Given the description of an element on the screen output the (x, y) to click on. 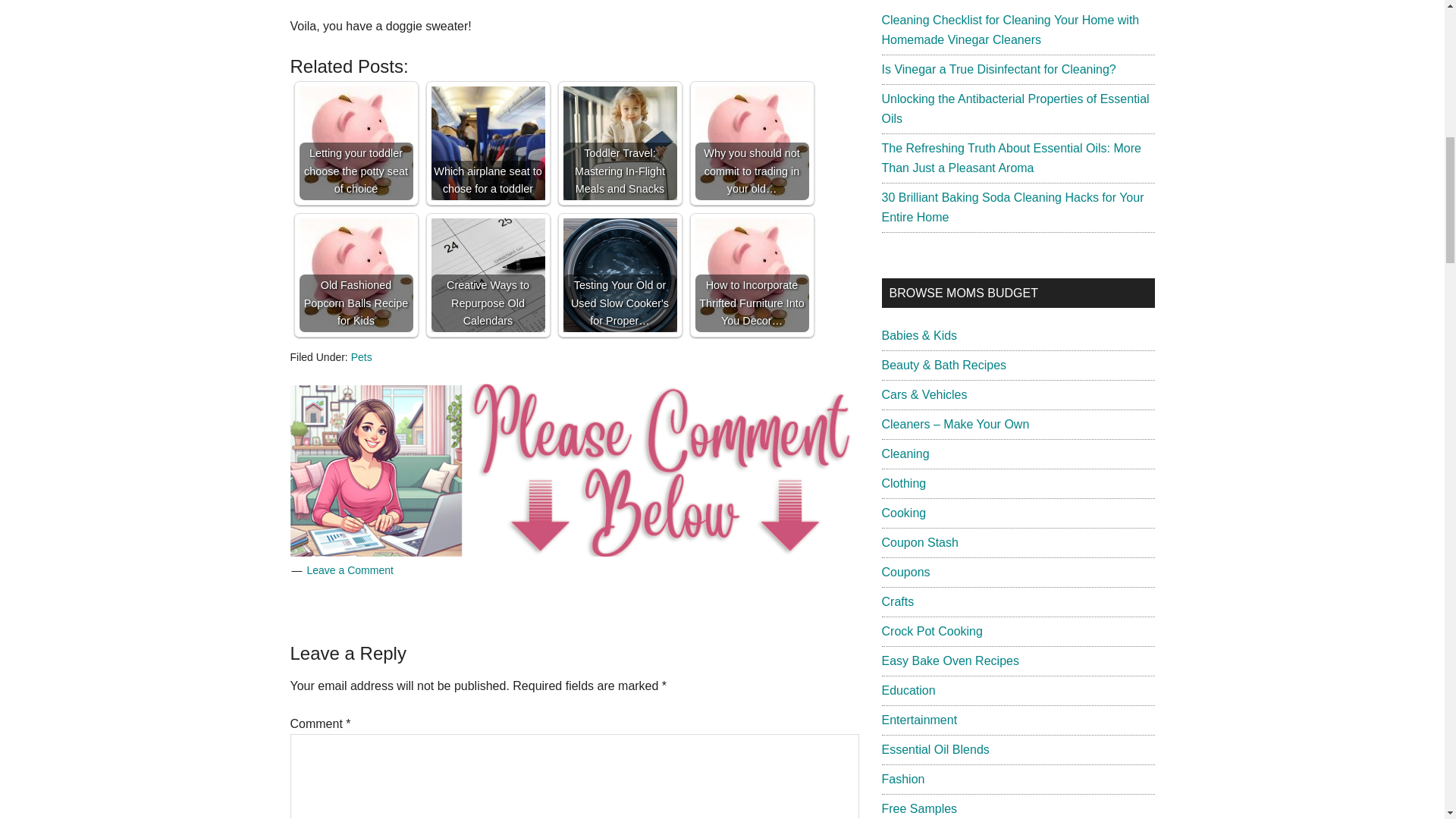
Creative Ways to Repurpose Old Calendars (487, 275)
Coupons (905, 571)
Letting your toddler choose the potty seat of choice (355, 142)
Easy Bake Oven Recipes (948, 660)
Crock Pot Cooking (930, 631)
Leave a Comment (349, 570)
Essential Oil Blends (934, 748)
Entertainment (918, 719)
Toddler Travel: Mastering In-Flight Meals and Snacks (619, 142)
Unlocking the Antibacterial Properties of Essential Oils (1014, 108)
Creative Ways to Repurpose Old Calendars (487, 275)
Old Fashioned Popcorn Balls Recipe for Kids (355, 275)
Which airplane seat to chose for a toddler (487, 142)
